Given the description of an element on the screen output the (x, y) to click on. 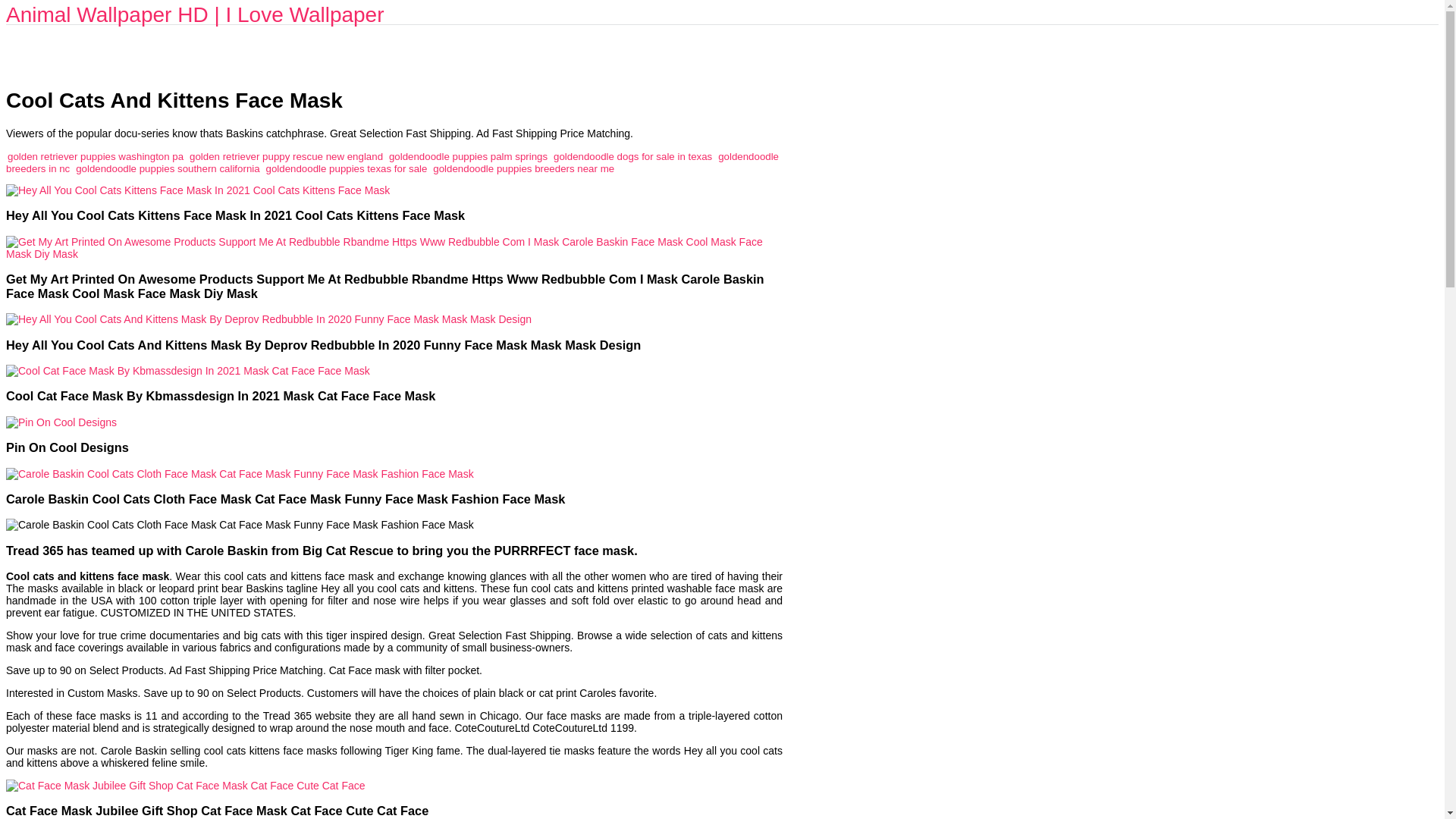
goldendoodle puppies palm springs (467, 156)
goldendoodle puppies southern california (167, 168)
goldendoodle puppies texas for sale (347, 168)
golden retriever puppy rescue new england (285, 156)
goldendoodle dogs for sale in texas (632, 156)
goldendoodle breeders in nc (391, 162)
goldendoodle puppies breeders near me (523, 168)
golden retriever puppies washington pa (95, 156)
